Given the description of an element on the screen output the (x, y) to click on. 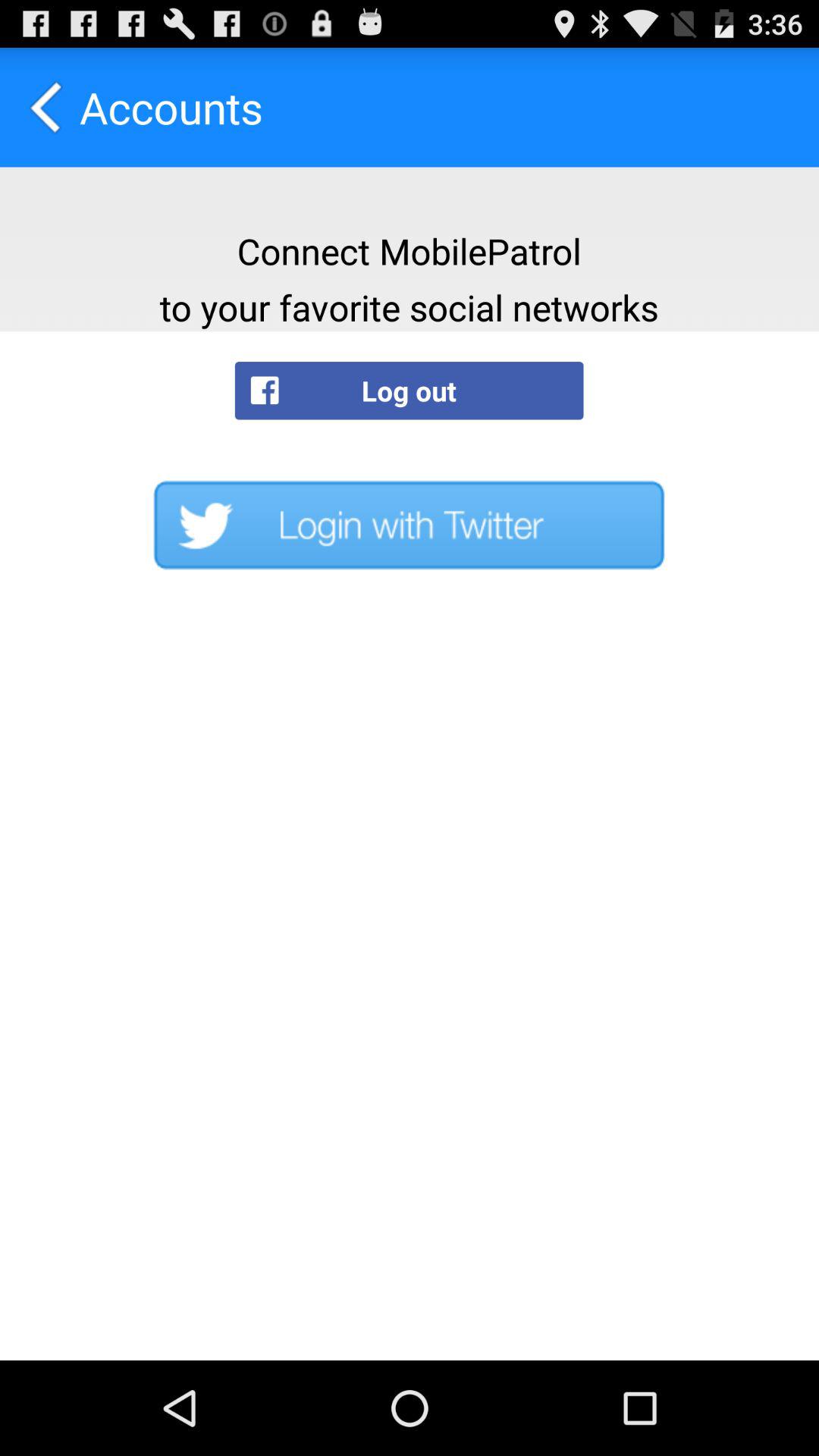
scroll to the log out item (408, 390)
